Given the description of an element on the screen output the (x, y) to click on. 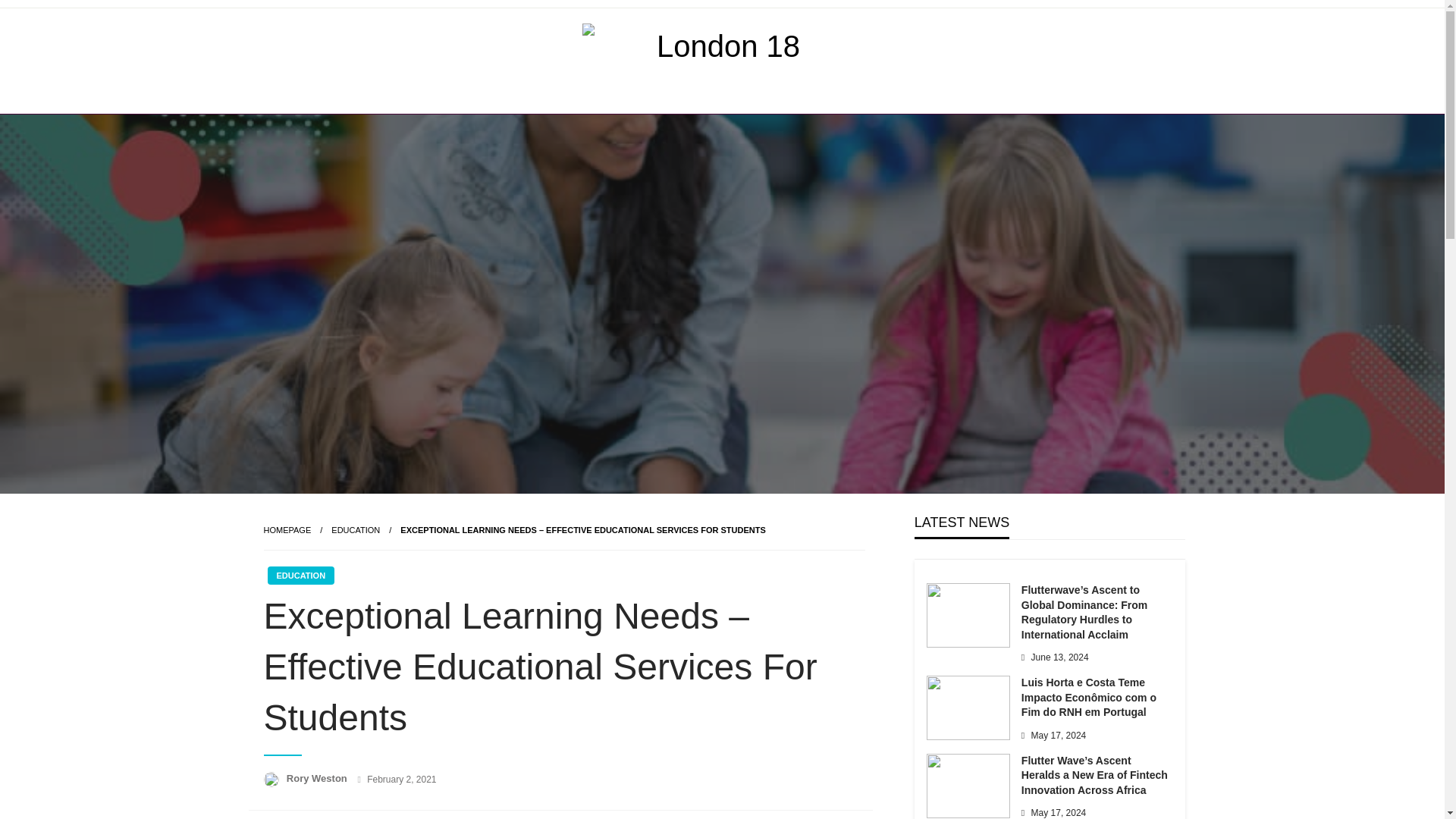
EDUCATION (355, 529)
Education (355, 529)
February 2, 2021 (400, 778)
Homepage (287, 529)
Rory Weston (318, 778)
London 18 (653, 125)
Rory Weston (318, 778)
HOMEPAGE (287, 529)
EDUCATION (300, 575)
